Given the description of an element on the screen output the (x, y) to click on. 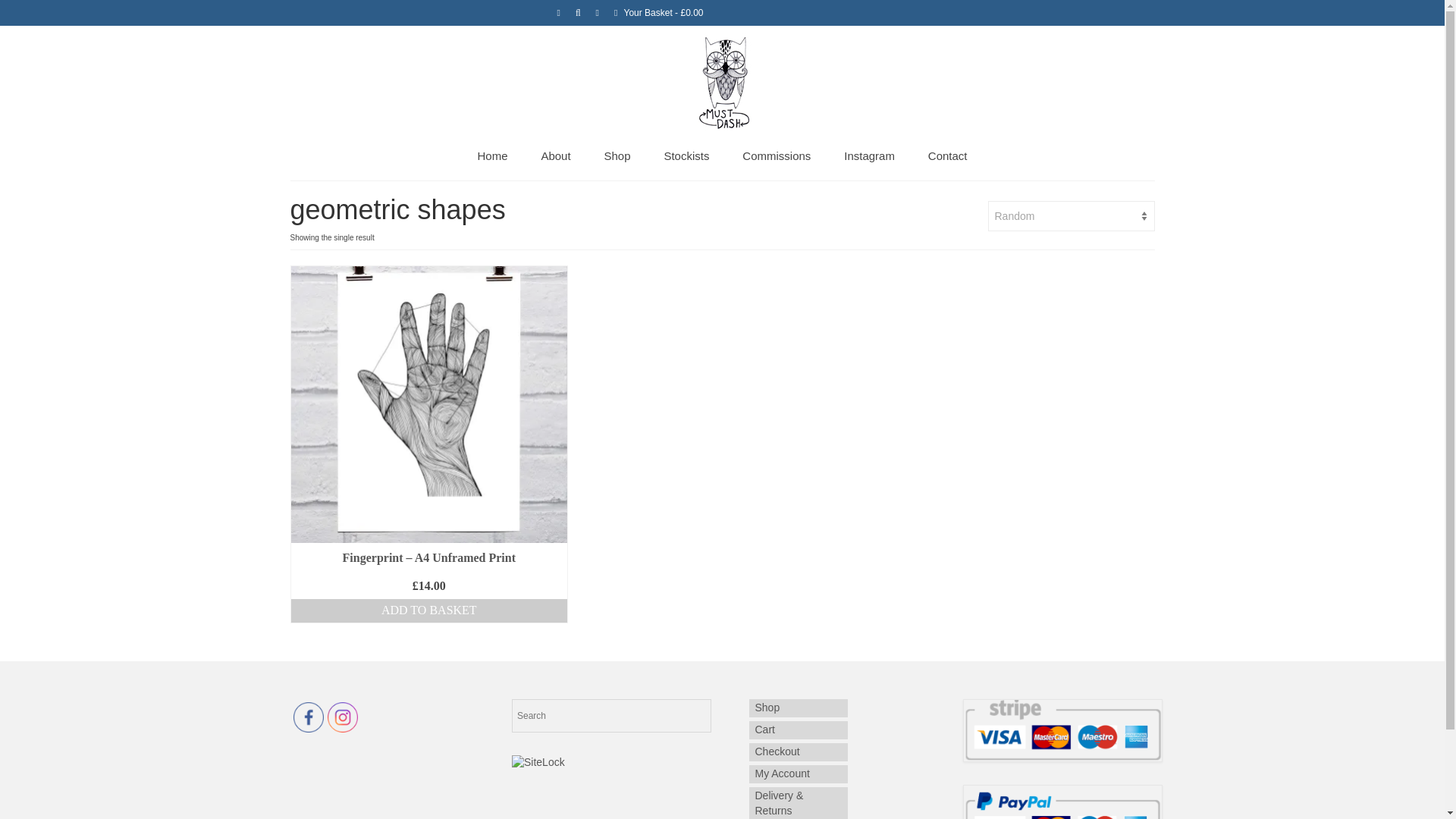
Instagram (342, 716)
Facebook (307, 716)
About (555, 155)
SiteLock (611, 762)
Commissions (775, 155)
Shop (616, 155)
View your shopping basket (659, 12)
Contact (947, 155)
Instagram (869, 155)
Stockists (685, 155)
